Given the description of an element on the screen output the (x, y) to click on. 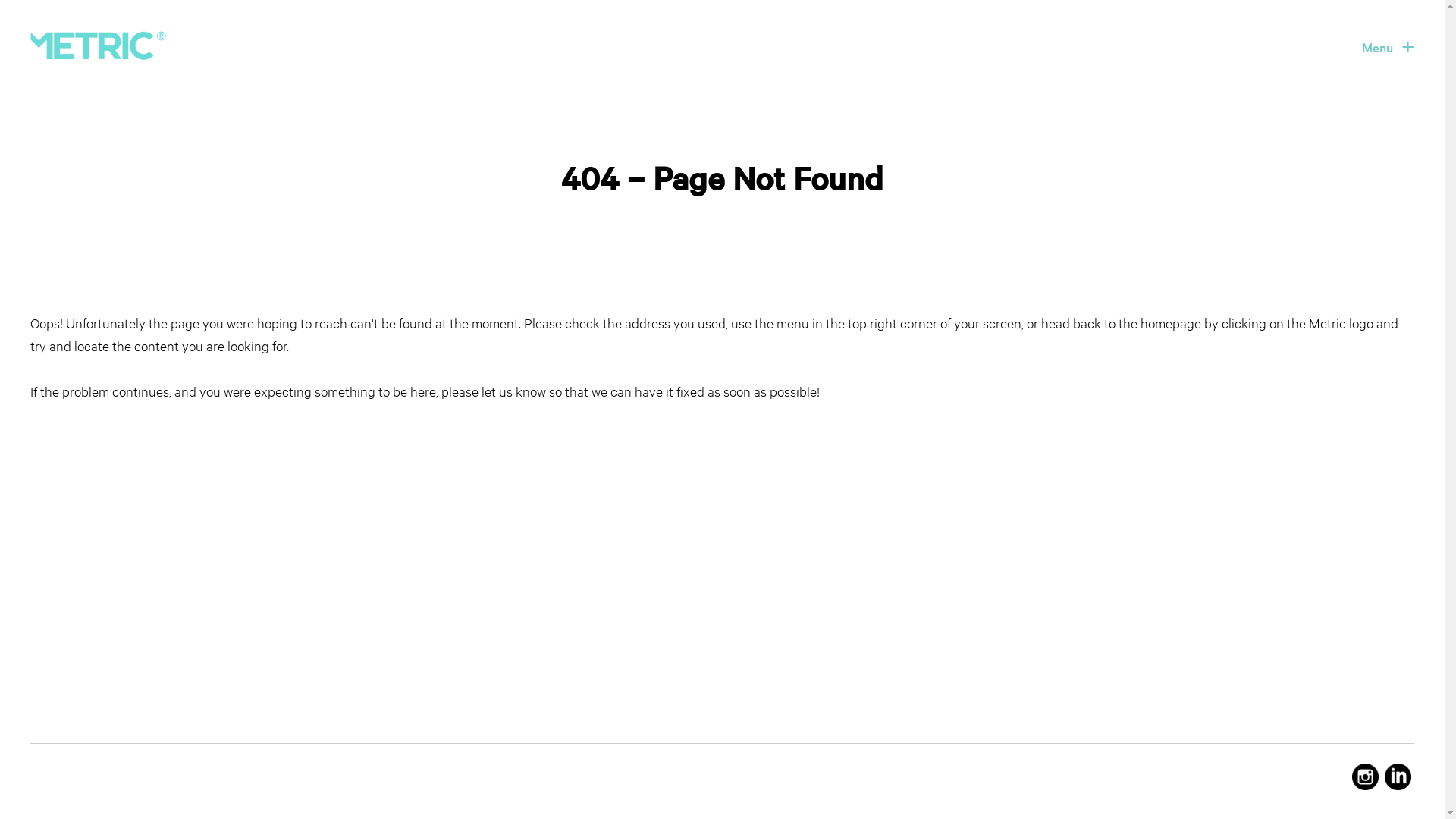
Menu
+ Element type: text (1384, 47)
Metric Element type: text (98, 45)
